Given the description of an element on the screen output the (x, y) to click on. 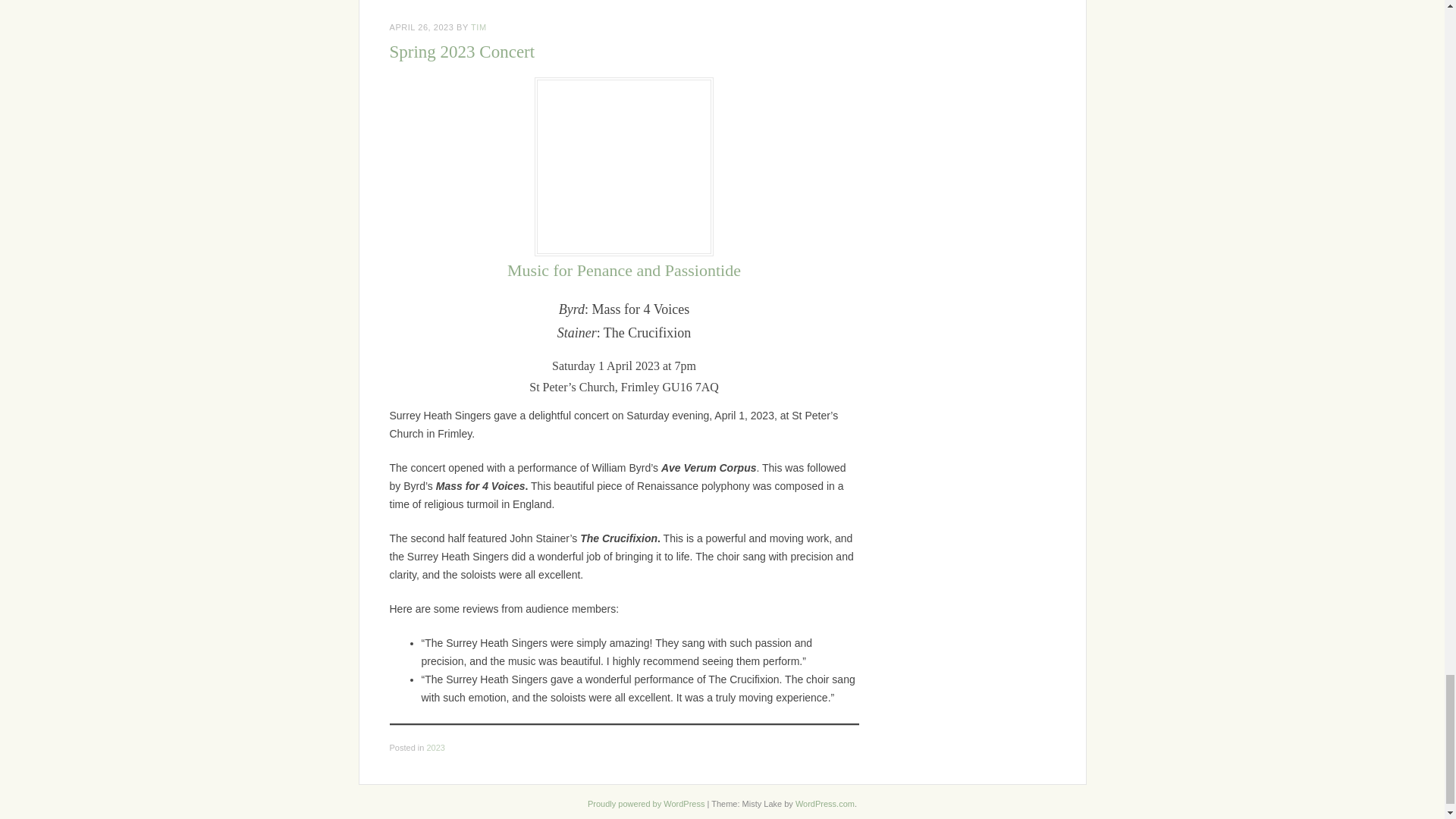
15:42 (422, 26)
View all posts by Tim (478, 26)
A Semantic Personal Publishing Platform (646, 803)
